Given the description of an element on the screen output the (x, y) to click on. 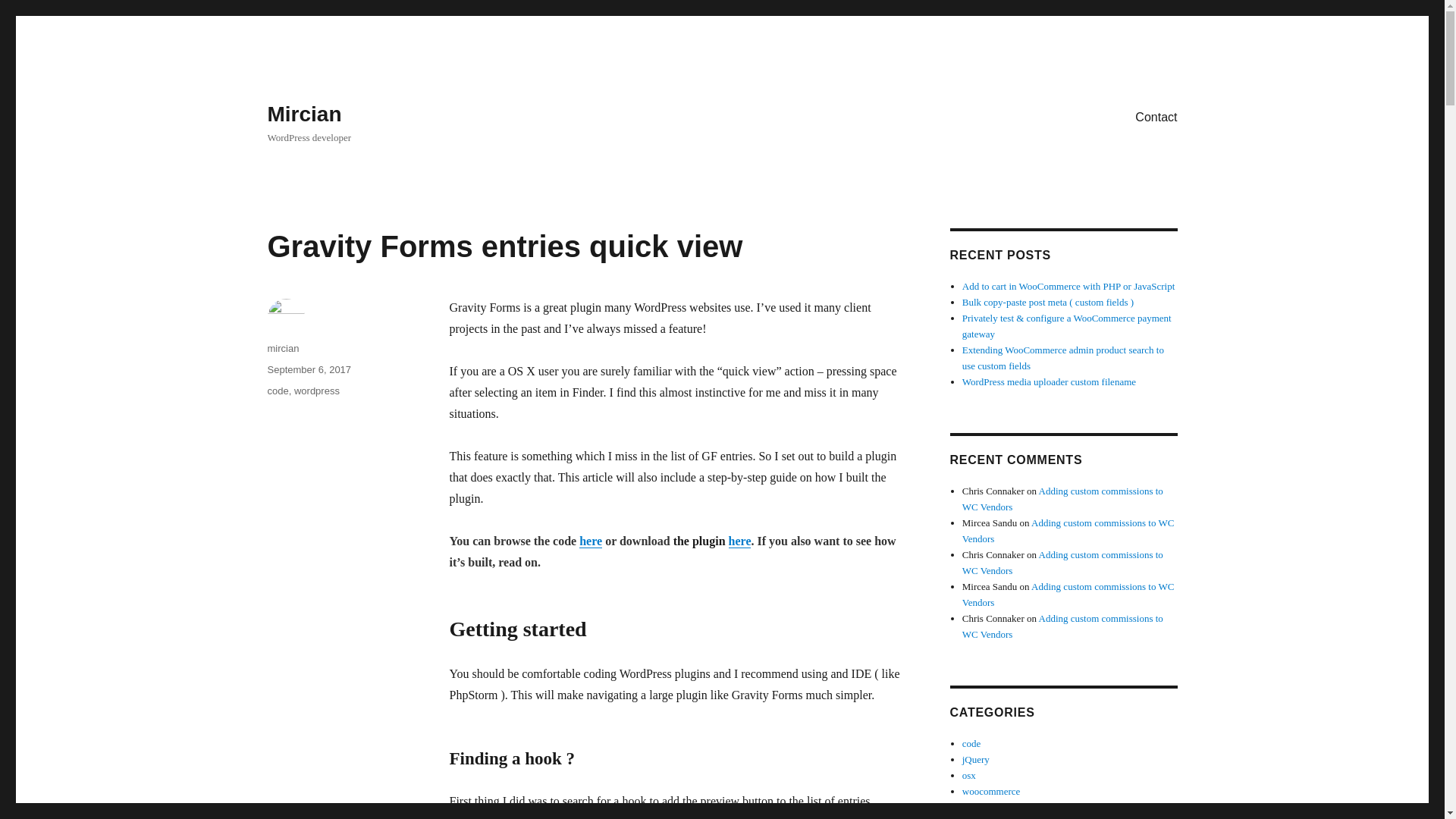
code (971, 743)
wordpress (982, 807)
wordpress (316, 390)
Adding custom commissions to WC Vendors (1068, 594)
jQuery (976, 758)
Contact (1156, 116)
September 6, 2017 (308, 369)
Adding custom commissions to WC Vendors (1062, 498)
here (740, 540)
osx (968, 775)
woocommerce (991, 790)
Adding custom commissions to WC Vendors (1068, 530)
code (277, 390)
here (590, 540)
